Given the description of an element on the screen output the (x, y) to click on. 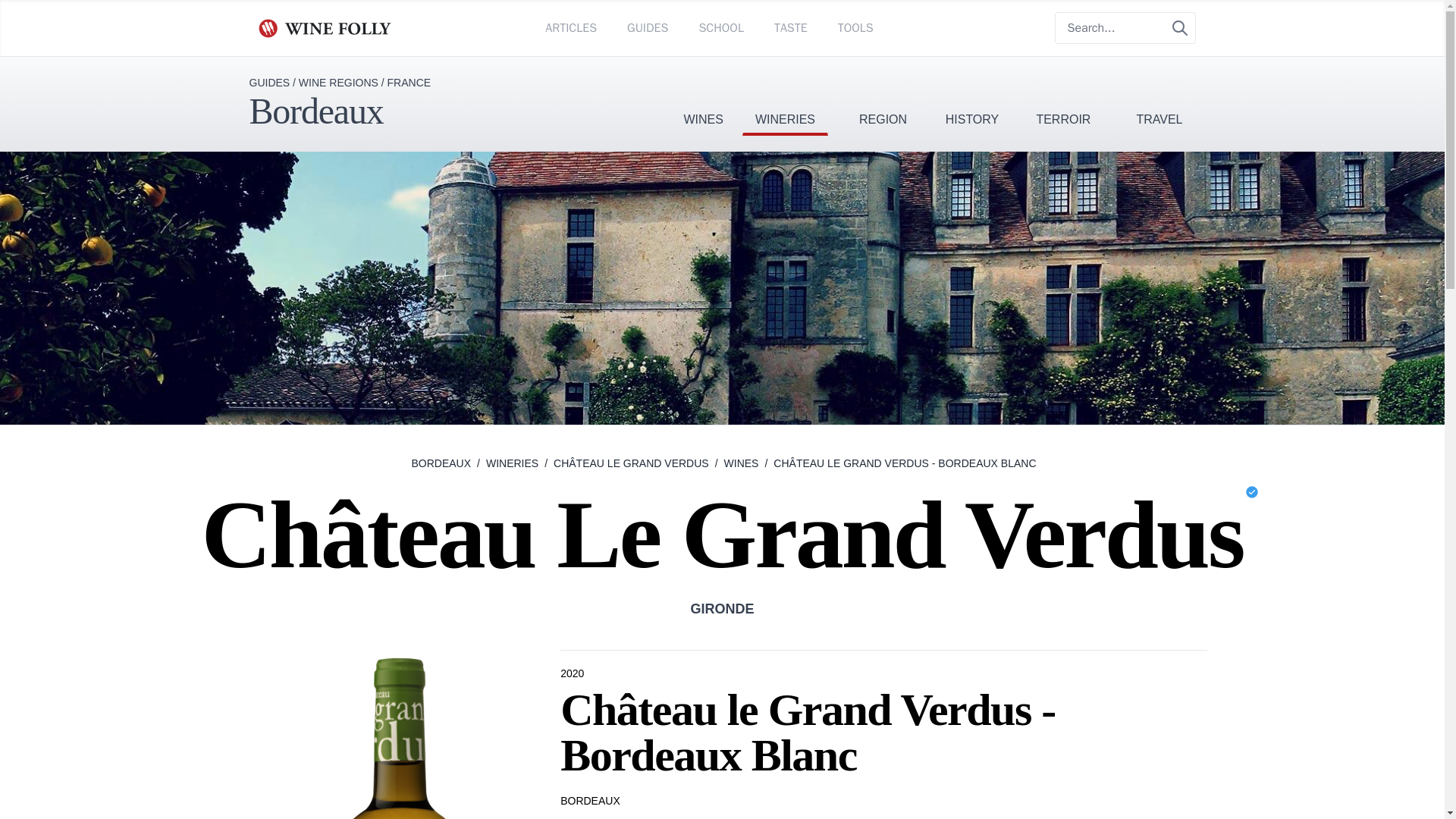
SCHOOL (720, 27)
TOOLS (855, 27)
HISTORY (972, 95)
WINERIES (785, 95)
FRANCE (408, 82)
TERROIR (1063, 95)
REGION (882, 95)
GUIDES (268, 82)
BORDEAUX (440, 462)
TASTE (791, 27)
